Given the description of an element on the screen output the (x, y) to click on. 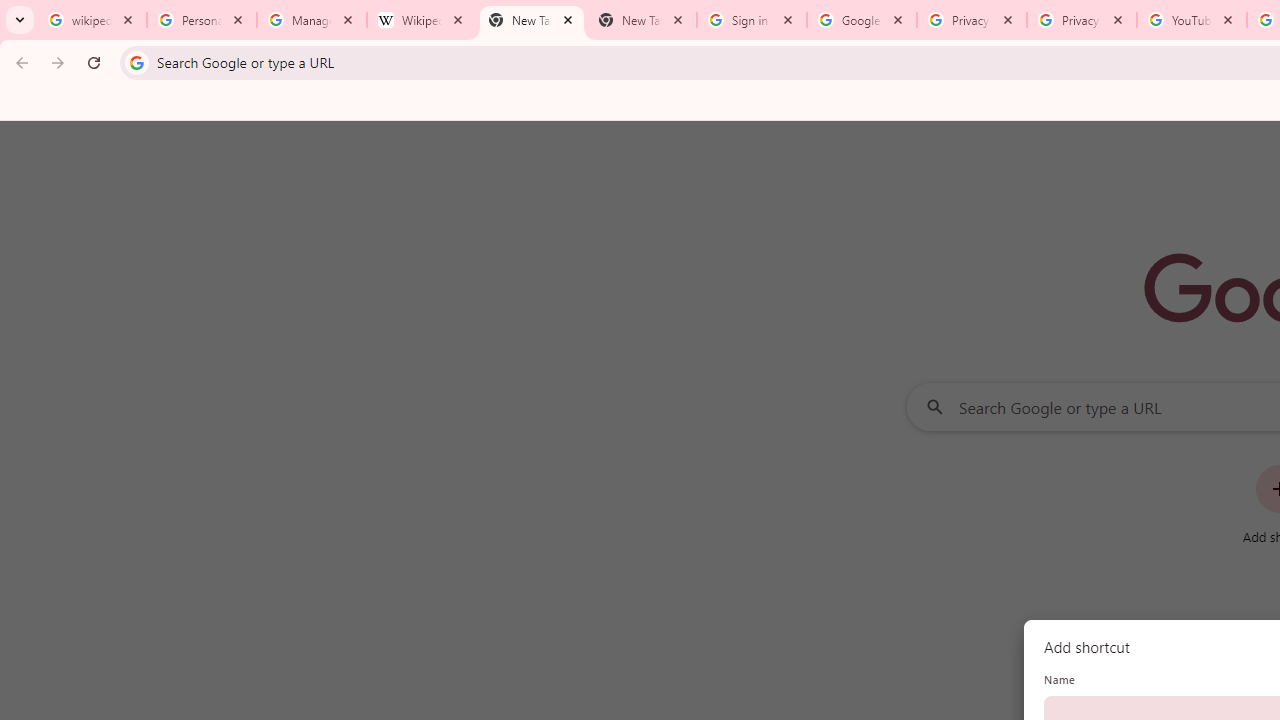
New Tab (642, 20)
Manage your Location History - Google Search Help (312, 20)
Sign in - Google Accounts (752, 20)
Personalization & Google Search results - Google Search Help (202, 20)
